Given the description of an element on the screen output the (x, y) to click on. 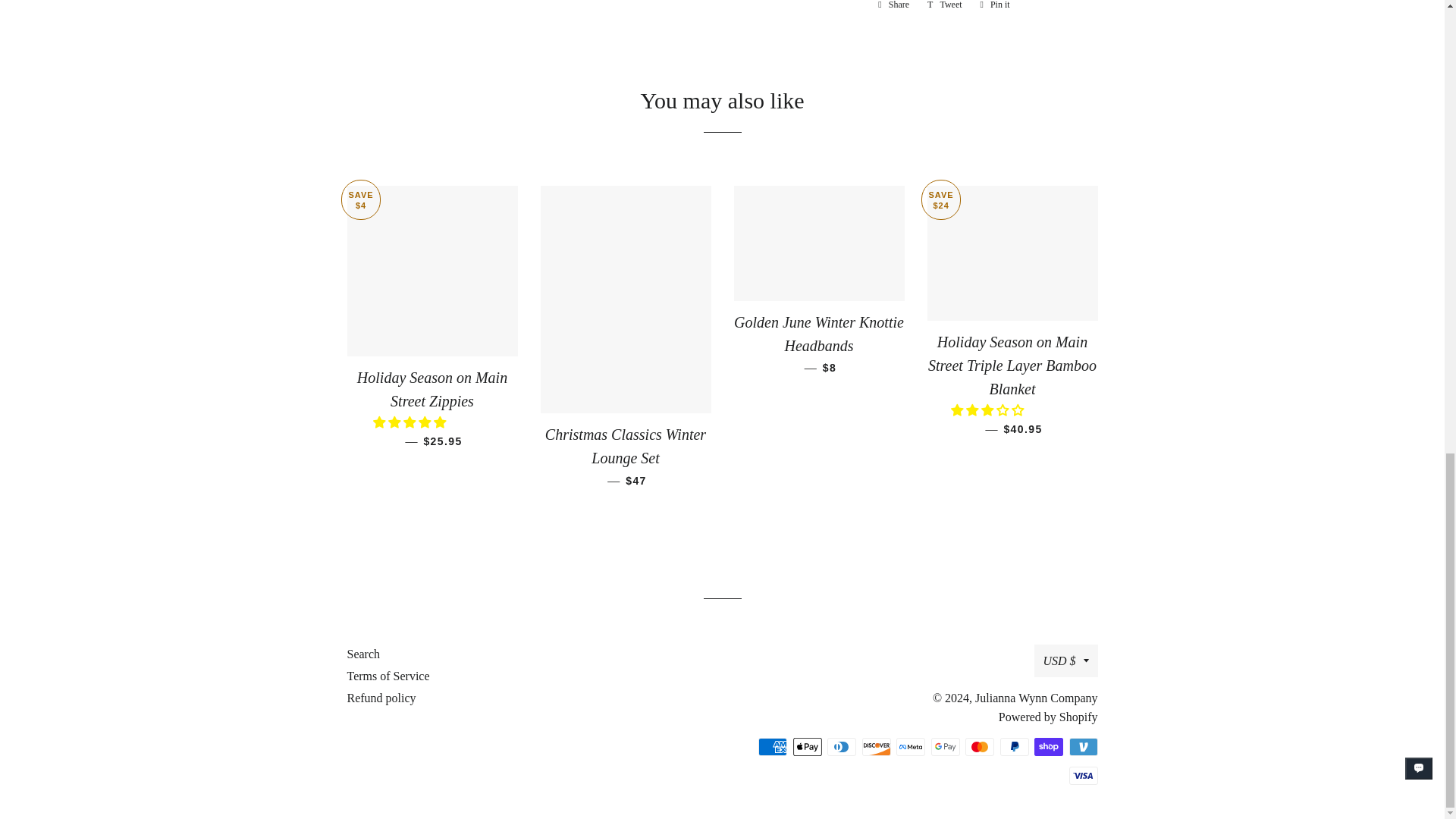
Tweet on Twitter (944, 6)
Meta Pay (910, 746)
Google Pay (945, 746)
Discover (875, 746)
PayPal (1012, 746)
Pin on Pinterest (994, 6)
Shop Pay (1047, 746)
Diners Club (841, 746)
Venmo (1082, 746)
Apple Pay (807, 746)
Share on Facebook (893, 6)
Mastercard (979, 746)
Visa (1082, 775)
American Express (772, 746)
